Given the description of an element on the screen output the (x, y) to click on. 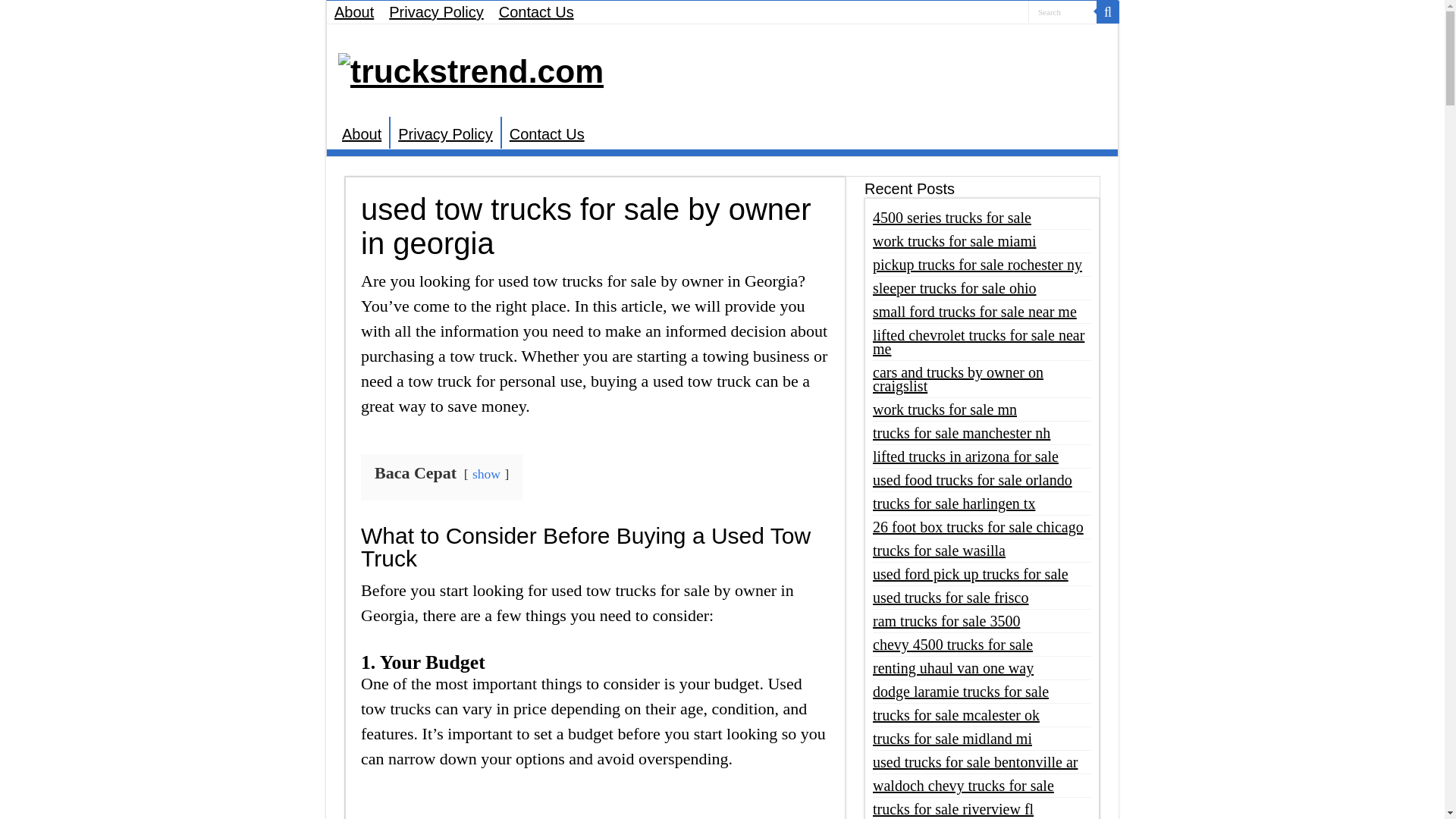
Search (1061, 11)
Contact Us (536, 11)
About (361, 132)
Search (1107, 11)
show (485, 473)
About (353, 11)
Privacy Policy (444, 132)
truckstrend.com (470, 68)
Search (1061, 11)
Contact Us (546, 132)
Search (1061, 11)
Privacy Policy (435, 11)
